Given the description of an element on the screen output the (x, y) to click on. 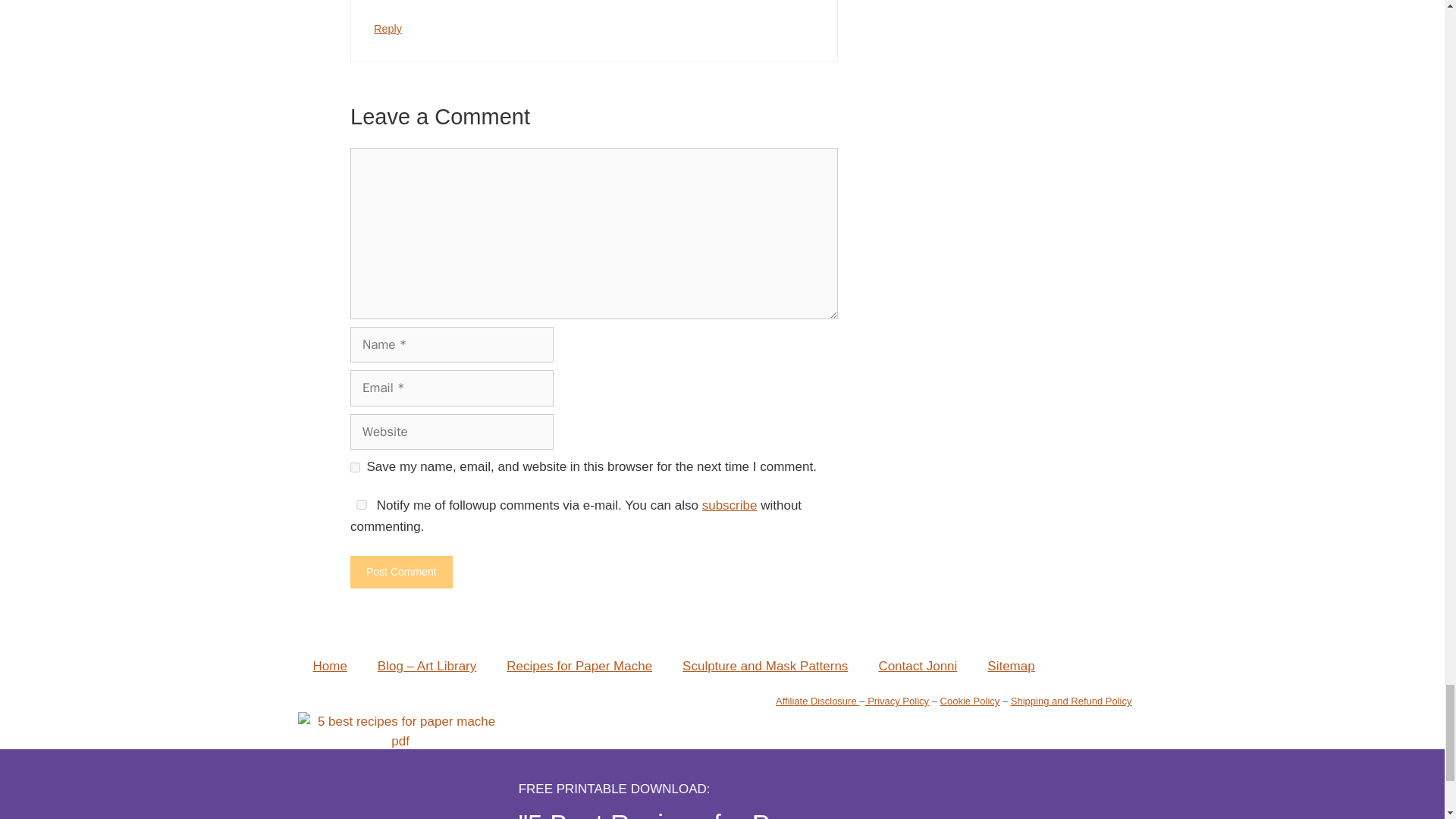
yes (354, 467)
5 best recipes for paper mache pdf (399, 731)
yes (361, 504)
Post Comment (401, 572)
